Given the description of an element on the screen output the (x, y) to click on. 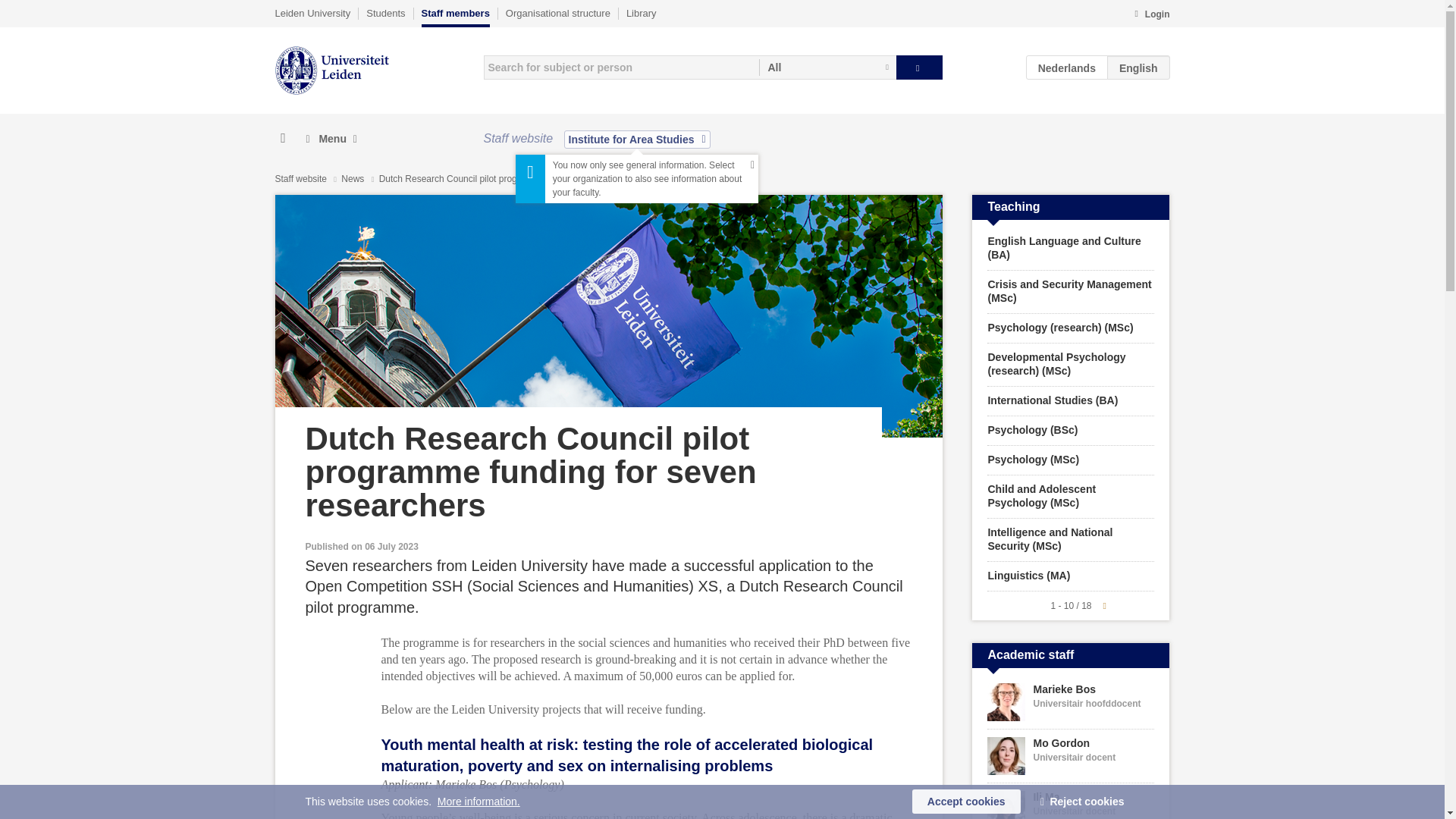
Students (385, 13)
Library (641, 13)
Login (1151, 14)
All (827, 67)
Search (919, 67)
Staff members (455, 17)
Leiden University (312, 13)
Institute for Area Studies (637, 139)
NL (1067, 67)
Menu (330, 139)
